Given the description of an element on the screen output the (x, y) to click on. 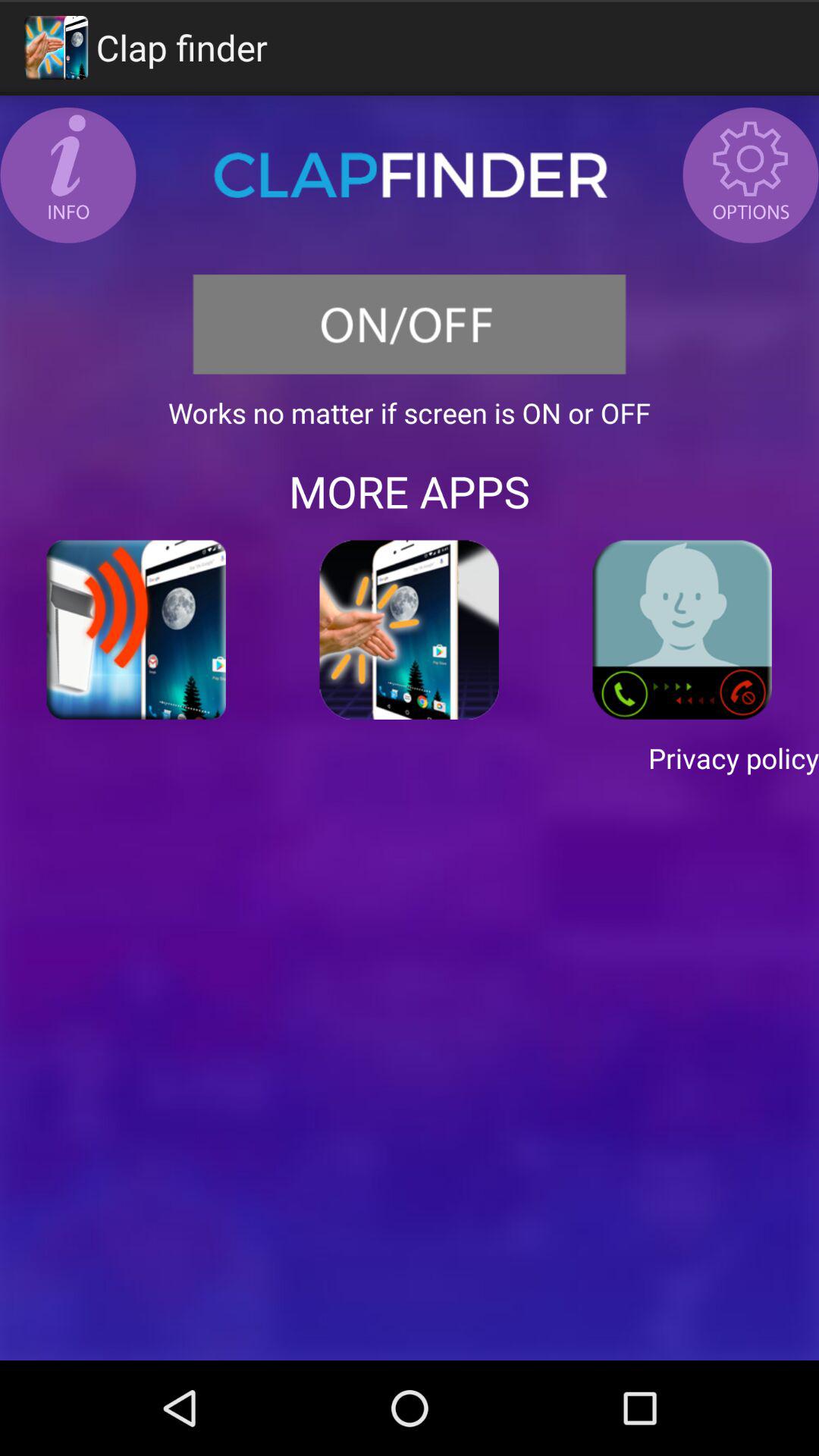
jump until the privacy policy icon (409, 757)
